Given the description of an element on the screen output the (x, y) to click on. 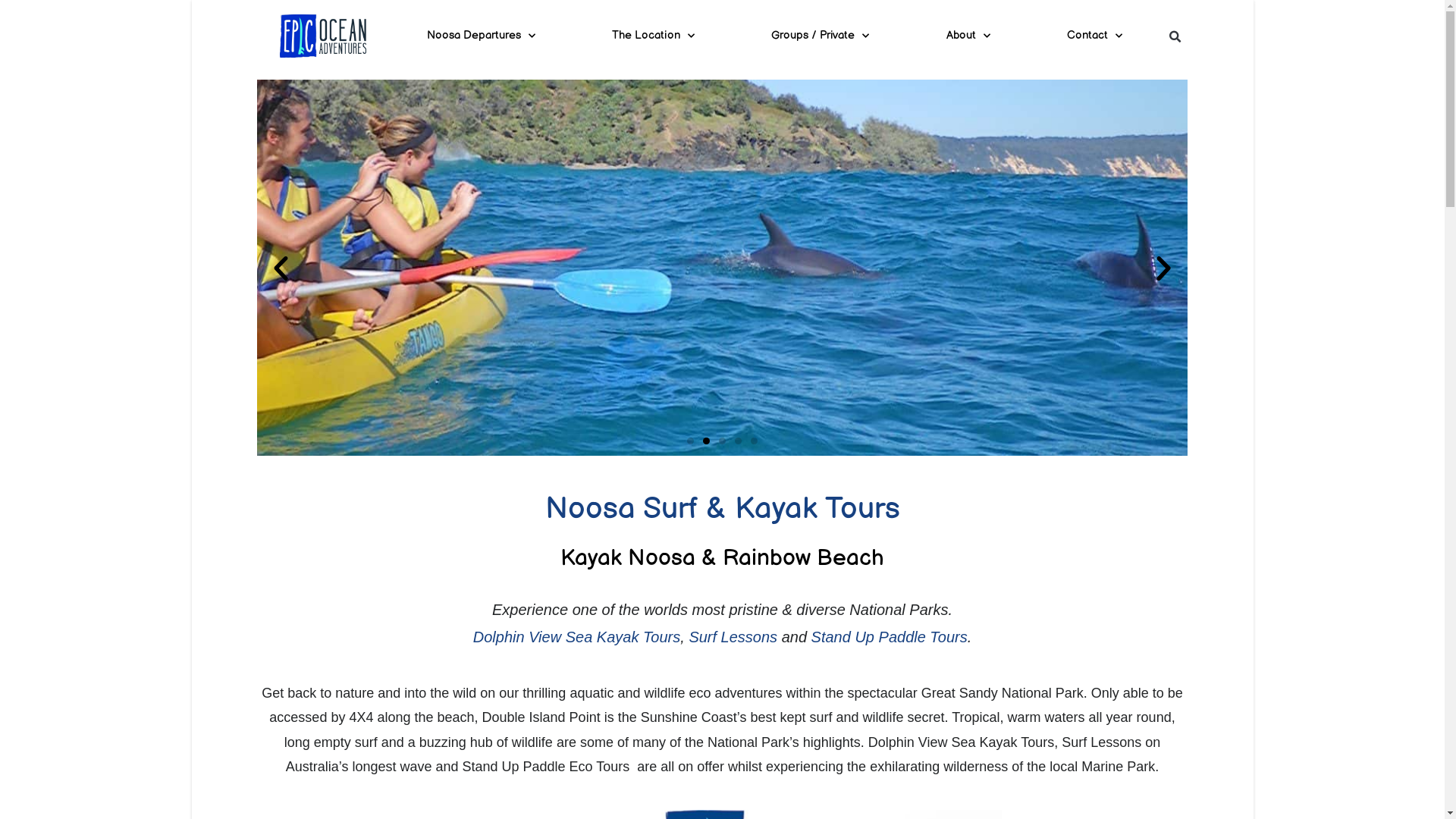
Kayak Noosa Element type: text (627, 557)
About Element type: text (967, 35)
Rainbow Beach Element type: text (803, 557)
Stand Up Paddle Tours Element type: text (889, 636)
Noosa Surf & Kayak Tours Element type: text (721, 508)
Groups / Private Element type: text (820, 35)
Noosa Departures Element type: text (480, 35)
The Location Element type: text (653, 35)
Dolphin View Sea Kayak Tours Element type: text (576, 636)
Contact Element type: text (1094, 35)
Surf Lessons Element type: text (732, 636)
